Given the description of an element on the screen output the (x, y) to click on. 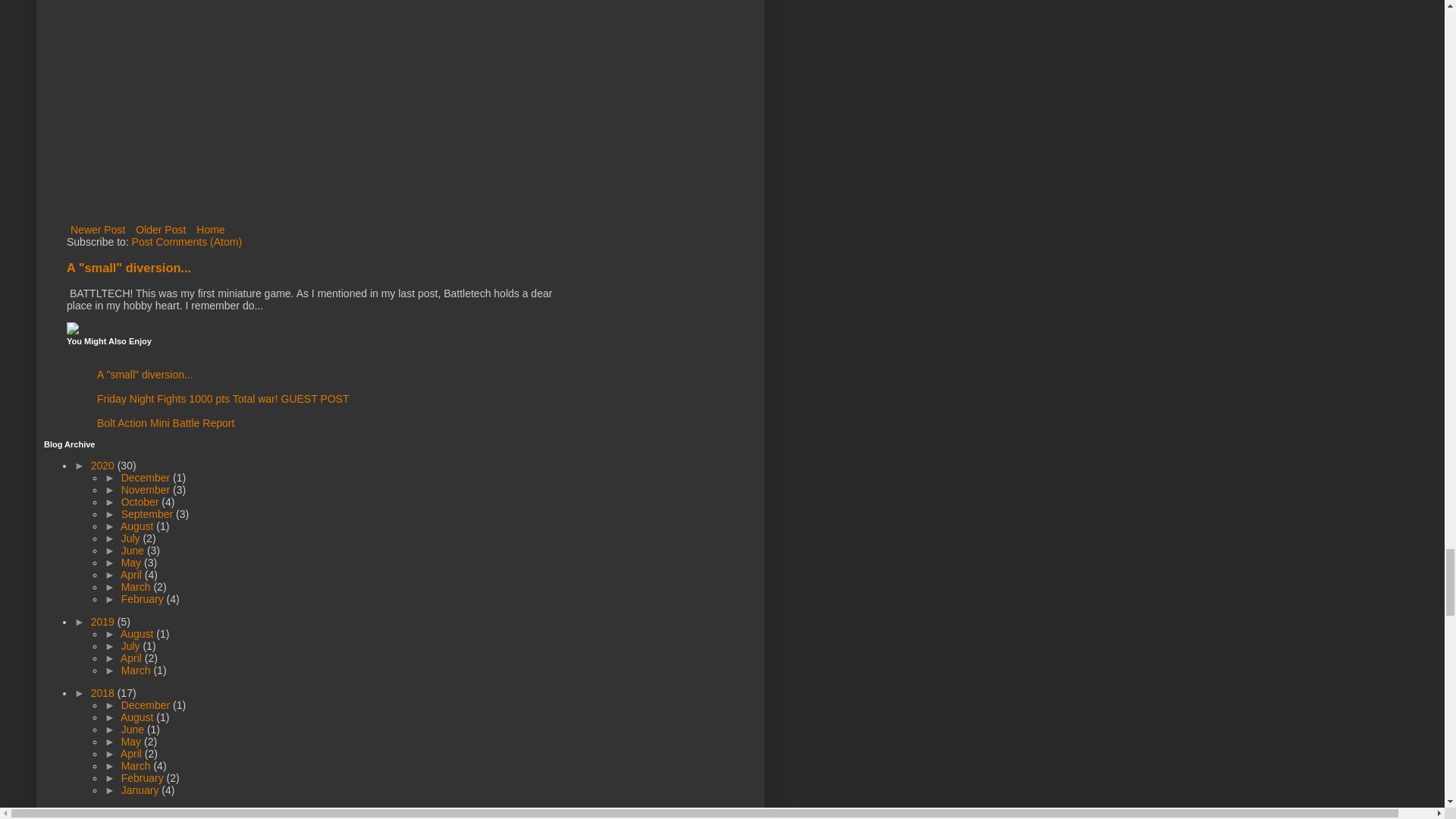
Older Post (160, 229)
Newer Post (97, 229)
